Given the description of an element on the screen output the (x, y) to click on. 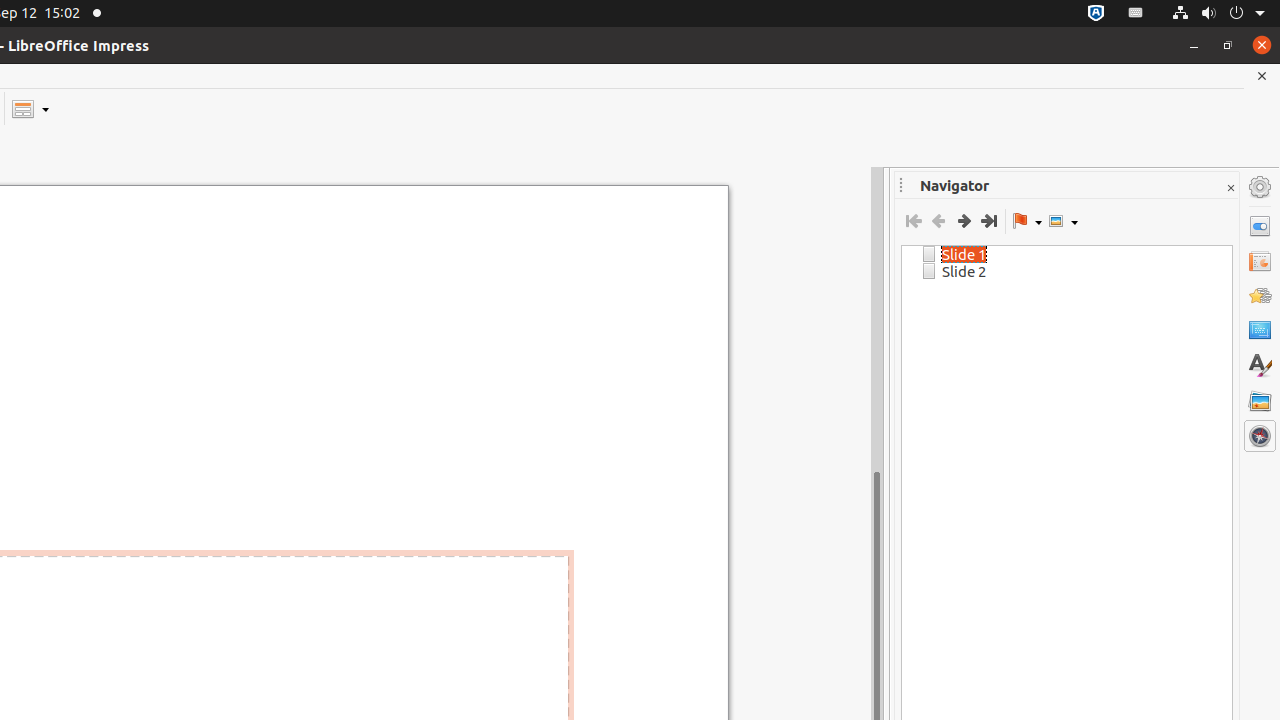
Styles Element type: radio-button (1260, 366)
First Slide Element type: push-button (913, 221)
Next Slide Element type: push-button (963, 221)
Slide Transition Element type: radio-button (1260, 261)
